Given the description of an element on the screen output the (x, y) to click on. 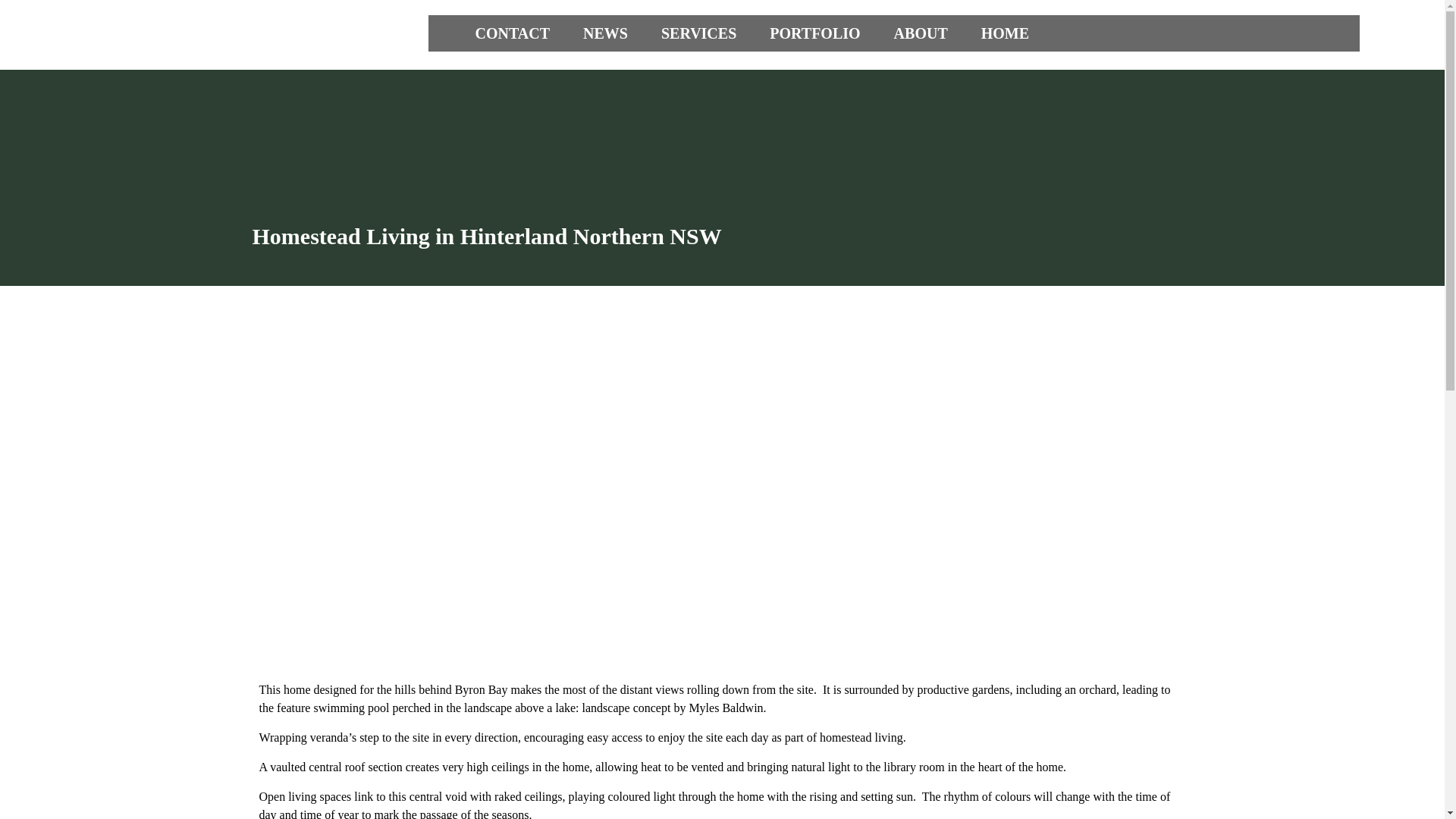
HOME (1004, 33)
CONTACT (512, 33)
PORTFOLIO (814, 33)
ABOUT (920, 33)
NEWS (605, 33)
SERVICES (698, 33)
